Given the description of an element on the screen output the (x, y) to click on. 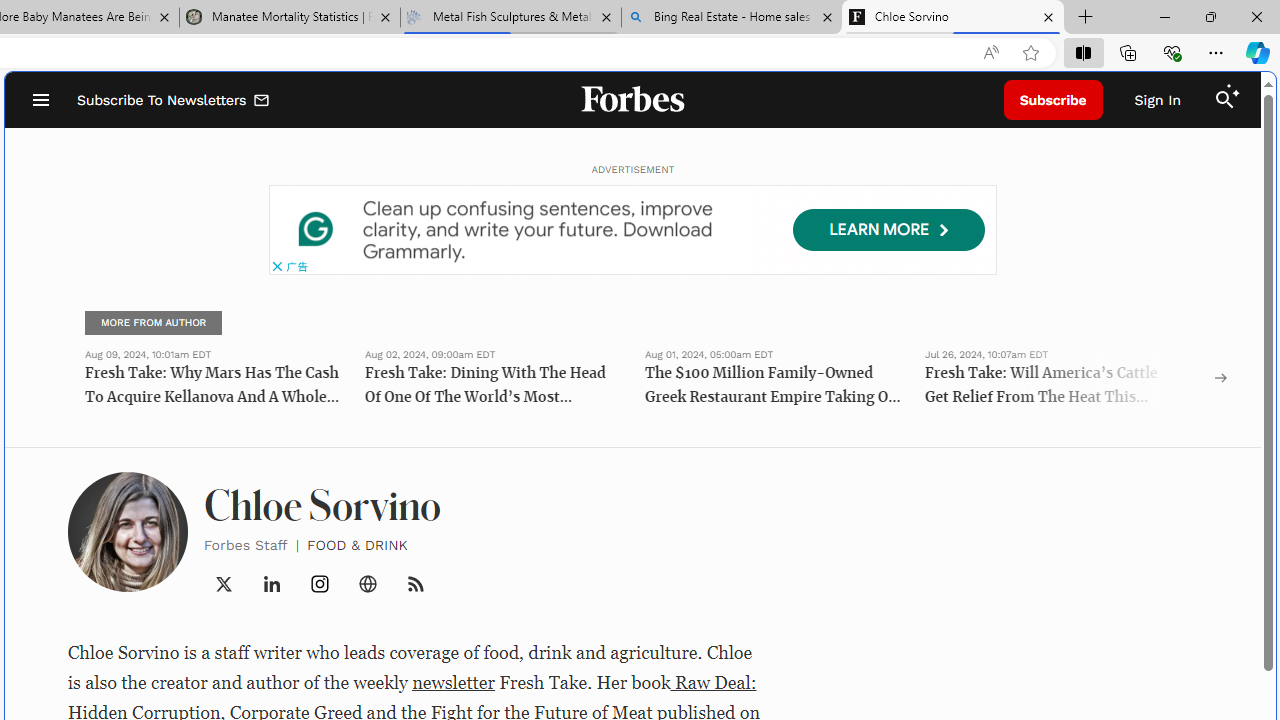
Class: VGJkz (415, 583)
Subscribe To Newsletters (173, 99)
Class: envelope_svg__fs-icon envelope_svg__fs-icon--envelope (262, 102)
Bing Real Estate - Home sales and rental listings (732, 17)
Sign In (1157, 100)
Chloe Sorvino (953, 17)
Class: j2XH_ (415, 583)
Class: sparkles_svg__fs-icon sparkles_svg__fs-icon--sparkles (1233, 91)
